Given the description of an element on the screen output the (x, y) to click on. 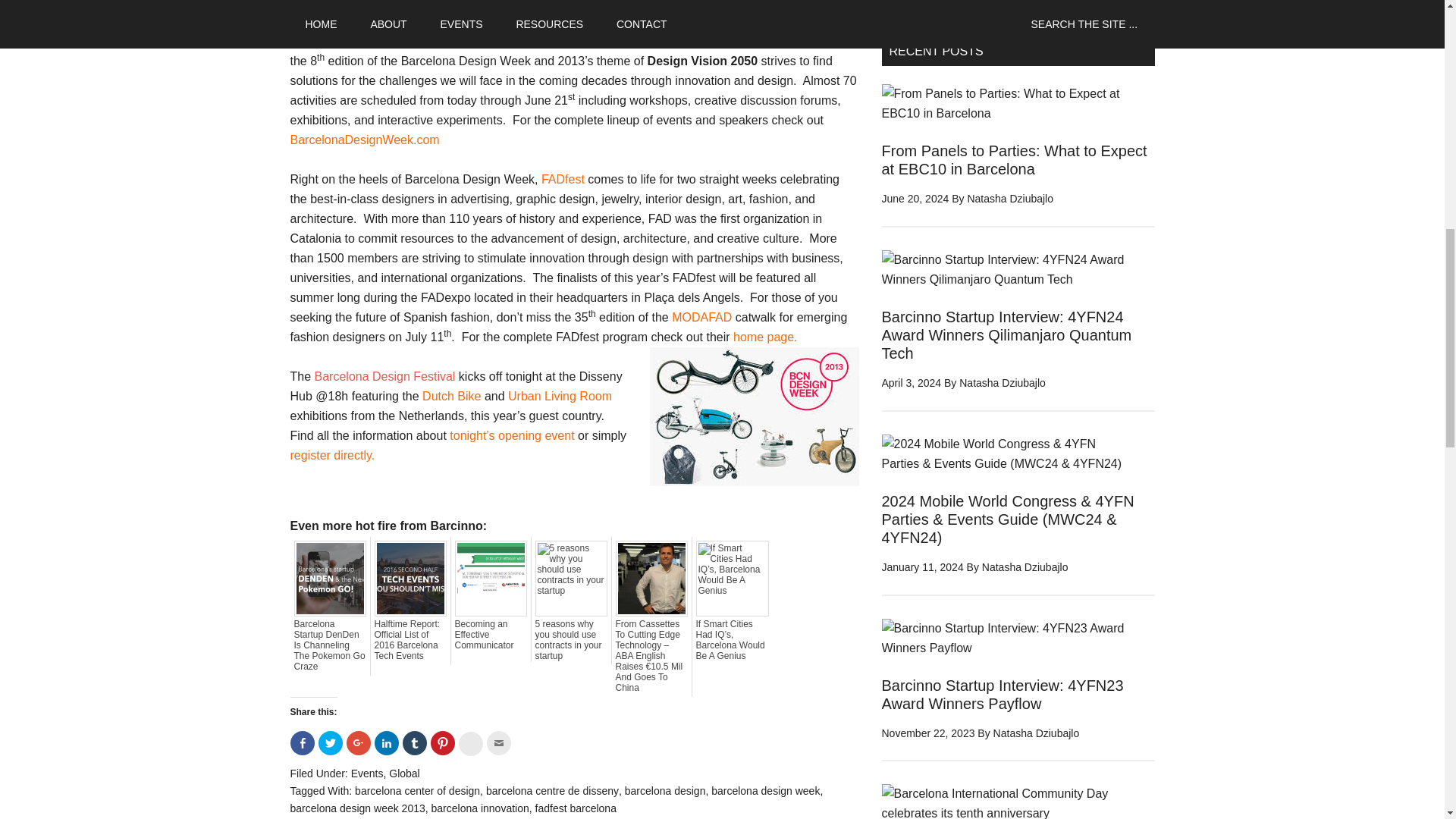
MODAFAD (701, 317)
Click to share on Pinterest (442, 743)
Barcelona Design Festival (384, 376)
Click to share on LinkedIn (386, 743)
Click to share on Facebook (301, 743)
Urban Living Room (559, 395)
Barcelona Startup DenDen Is Channeling The Pokemon Go Craze (330, 645)
Click to share on Buffer (469, 743)
home page. (765, 336)
register directly.  (333, 454)
